Given the description of an element on the screen output the (x, y) to click on. 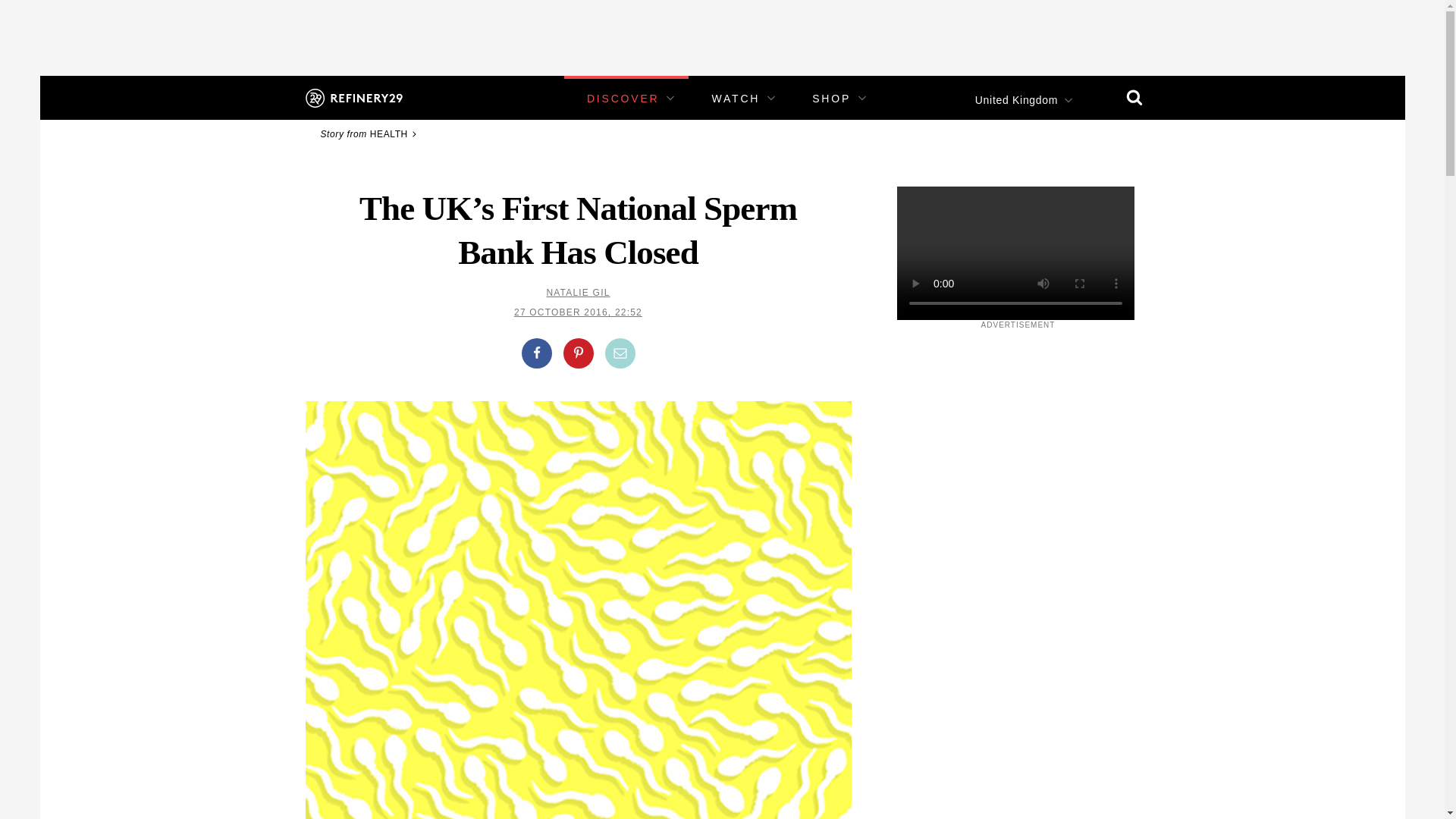
Share on Facebook (536, 353)
DISCOVER (622, 98)
Share on Pinterest (577, 353)
NATALIE GIL (578, 292)
Share by Email (619, 353)
SHOP (831, 98)
Refinery29 (352, 97)
Story from HEALTH (370, 133)
WATCH (735, 98)
27 OCTOBER 2016, 22:52 (577, 312)
